Given the description of an element on the screen output the (x, y) to click on. 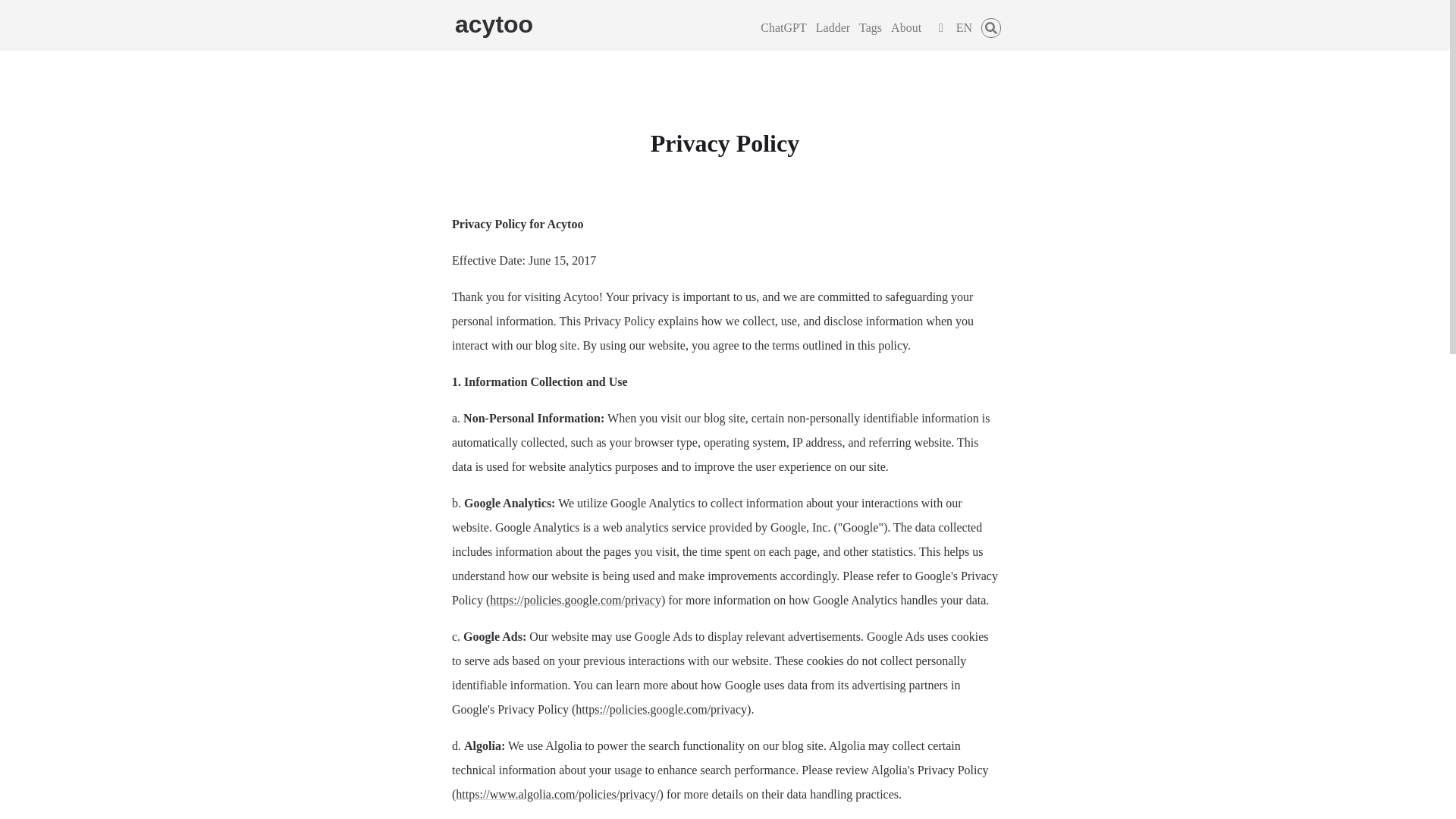
Ladder (832, 27)
ChatGPT (783, 27)
Tags (870, 27)
About (906, 27)
acytoo (493, 23)
